Given the description of an element on the screen output the (x, y) to click on. 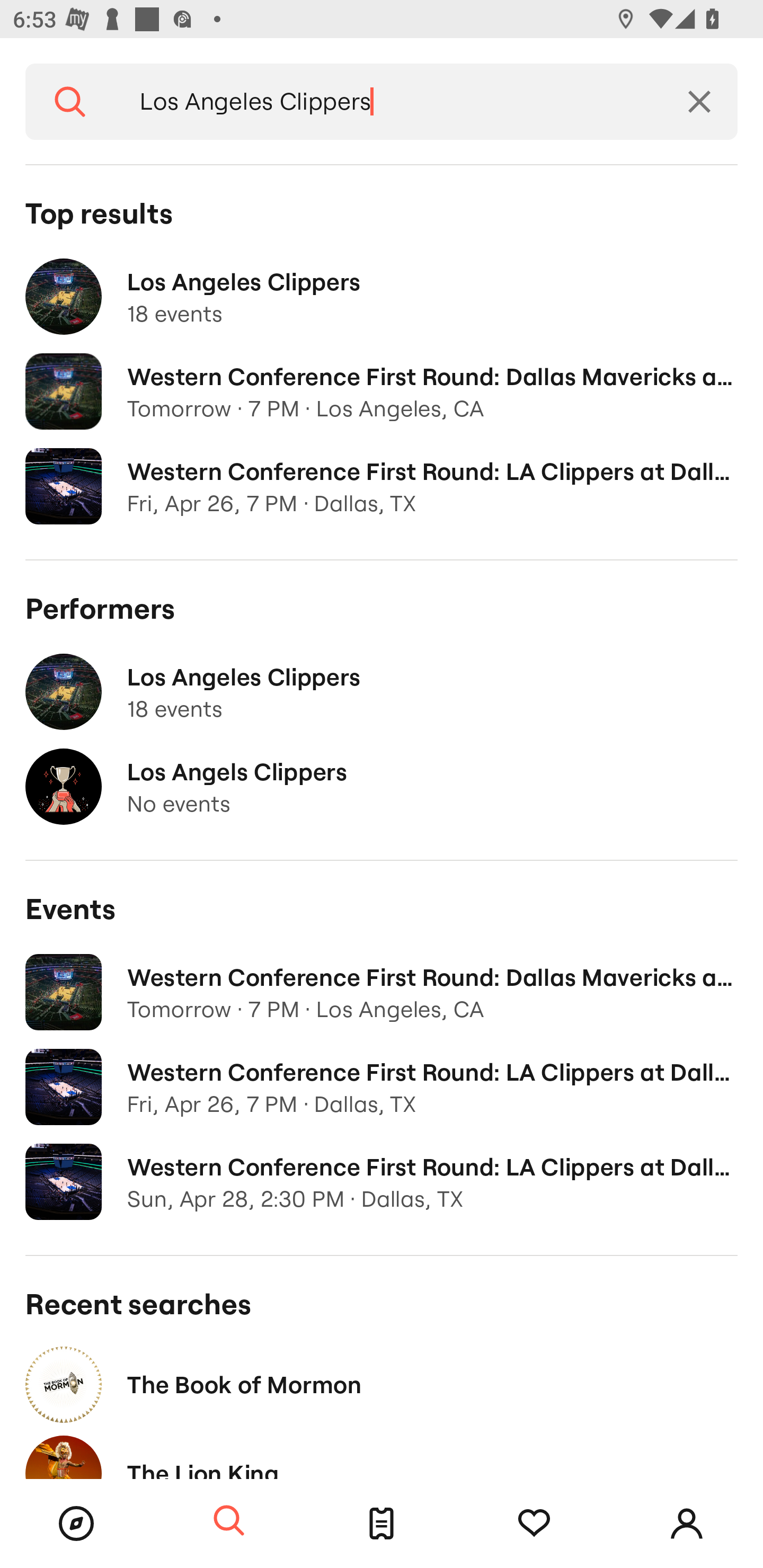
Search (69, 101)
Los Angeles Clippers (387, 101)
Clear (699, 101)
Los Angeles Clippers 18 events (381, 296)
Los Angeles Clippers 18 events (381, 692)
Los Angels Clippers No events (381, 787)
The Book of Mormon (381, 1384)
Browse (76, 1523)
Search (228, 1521)
Tickets (381, 1523)
Tracking (533, 1523)
Account (686, 1523)
